Given the description of an element on the screen output the (x, y) to click on. 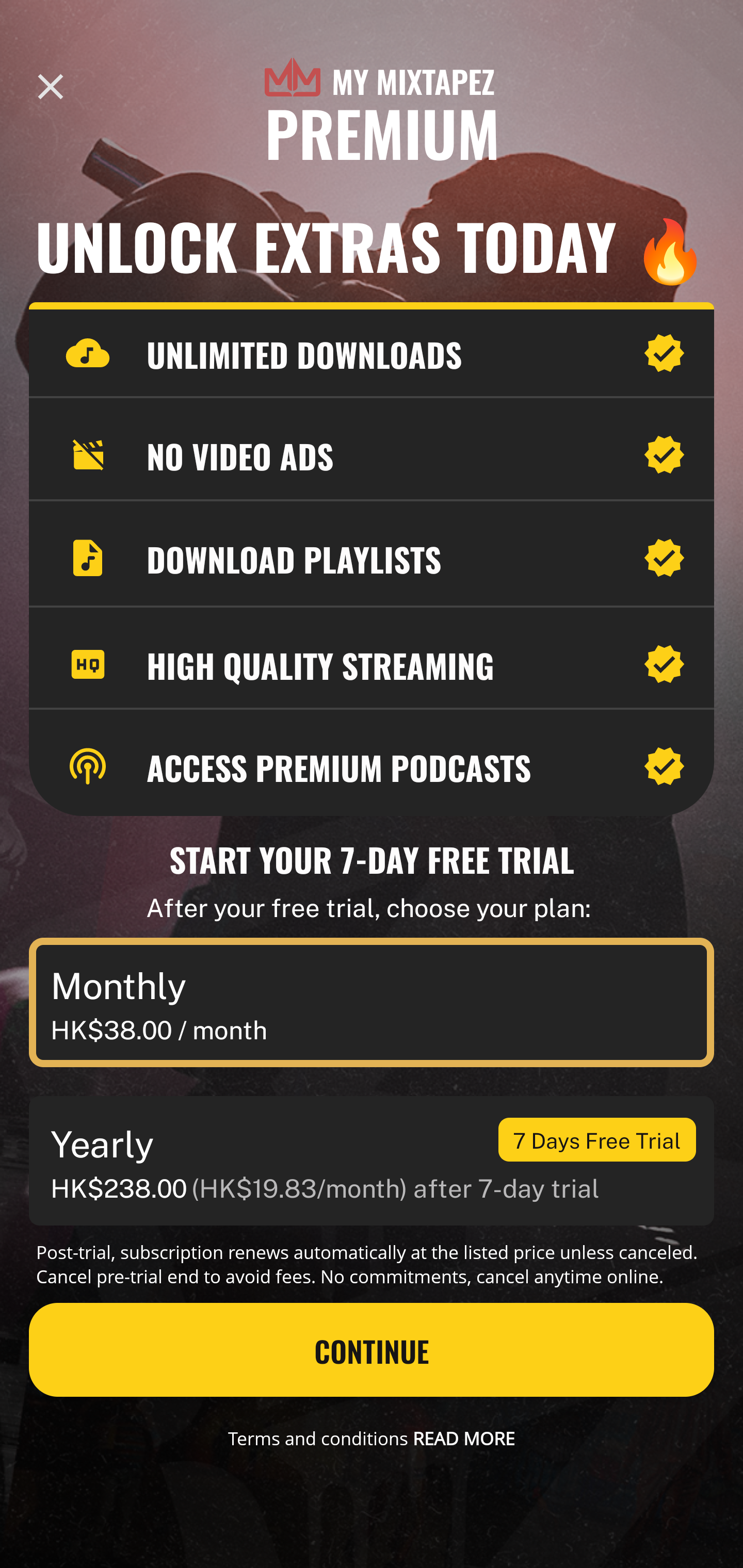
Description (50, 86)
Monthly HK$38.00 / month (371, 1002)
CONTINUE (371, 1350)
Terms and conditions READ MORE (371, 1437)
